Given the description of an element on the screen output the (x, y) to click on. 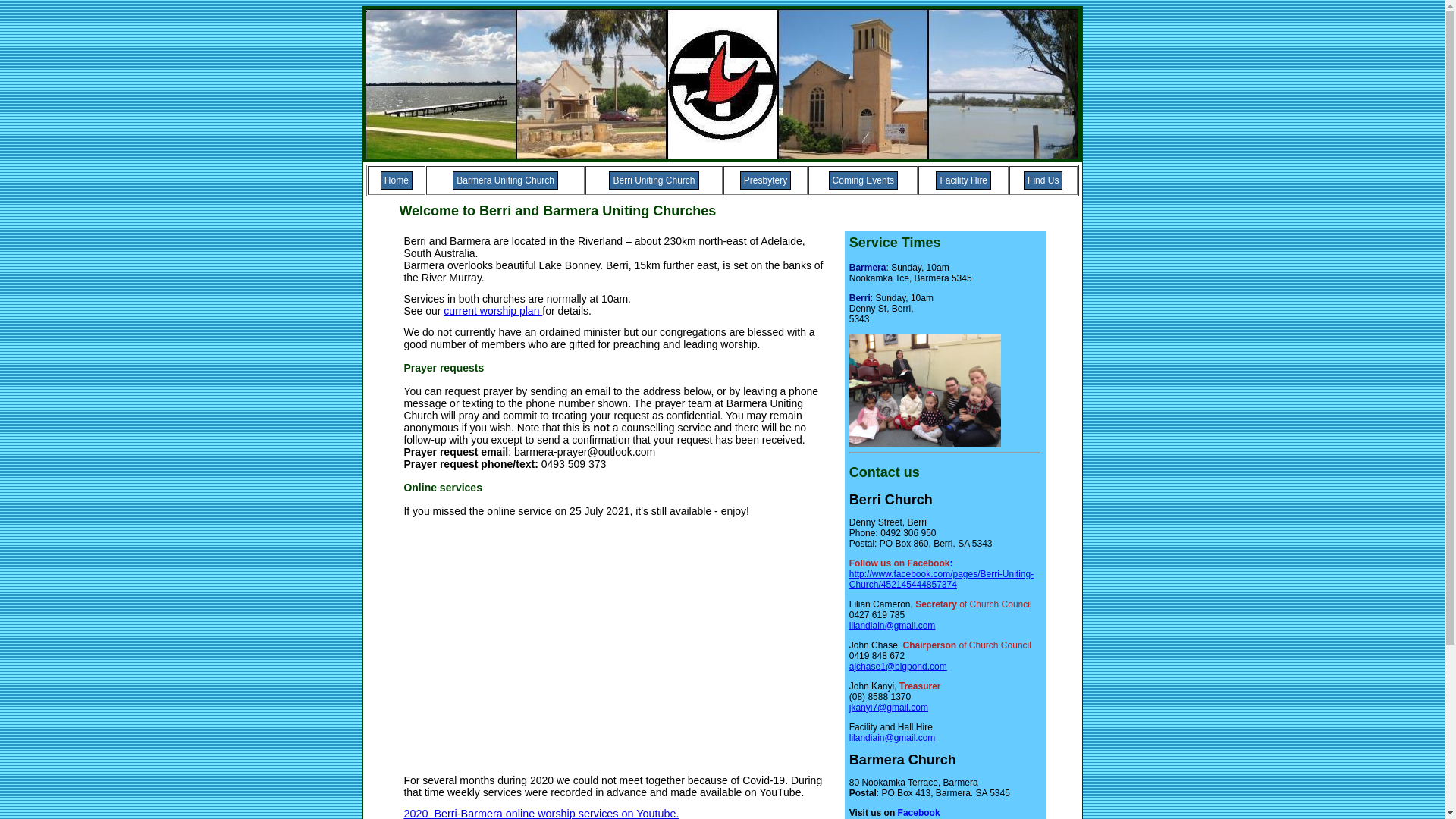
jkanyi7@gmail.com Element type: text (888, 707)
lilandiain@gmail.com Element type: text (892, 737)
Home Element type: text (396, 180)
Facility Hire Element type: text (963, 180)
Presbytery Element type: text (765, 180)
current worship plan  Element type: text (492, 310)
Find Us Element type: text (1042, 180)
Home Element type: text (396, 180)
Presbytery Element type: text (765, 180)
Barmera Uniting Church Element type: text (505, 180)
Berri Uniting Church Element type: text (653, 180)
Berri Uniting Church Element type: text (653, 180)
lilandiain@gmail.com Element type: text (892, 625)
YouTube video player Element type: hover (615, 645)
ajchase1@bigpond.com Element type: text (898, 666)
Facebook Element type: text (918, 812)
Coming Events Element type: text (862, 180)
Coming Events Element type: text (862, 180)
Find Us Element type: text (1042, 180)
Facility Hire Element type: text (963, 180)
